Given the description of an element on the screen output the (x, y) to click on. 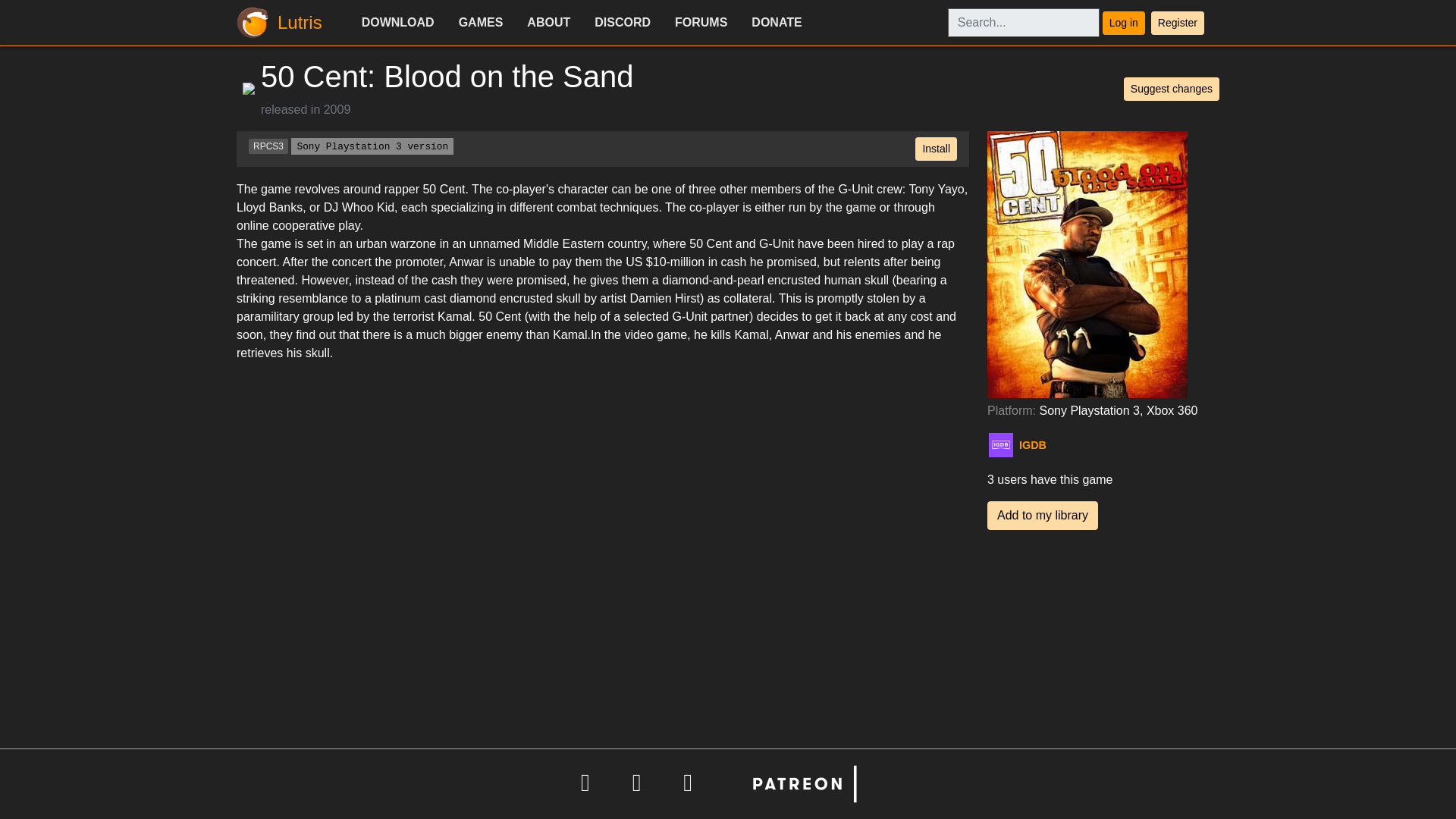
DISCORD (622, 22)
FORUMS (700, 22)
GAMES (480, 22)
ABOUT (548, 22)
Log in (1123, 22)
Lutris (283, 22)
Add to my library (1042, 515)
IGDB (1053, 444)
Install (935, 148)
DOWNLOAD (397, 22)
Register (1177, 22)
DONATE (776, 22)
Suggest changes (1172, 88)
